Given the description of an element on the screen output the (x, y) to click on. 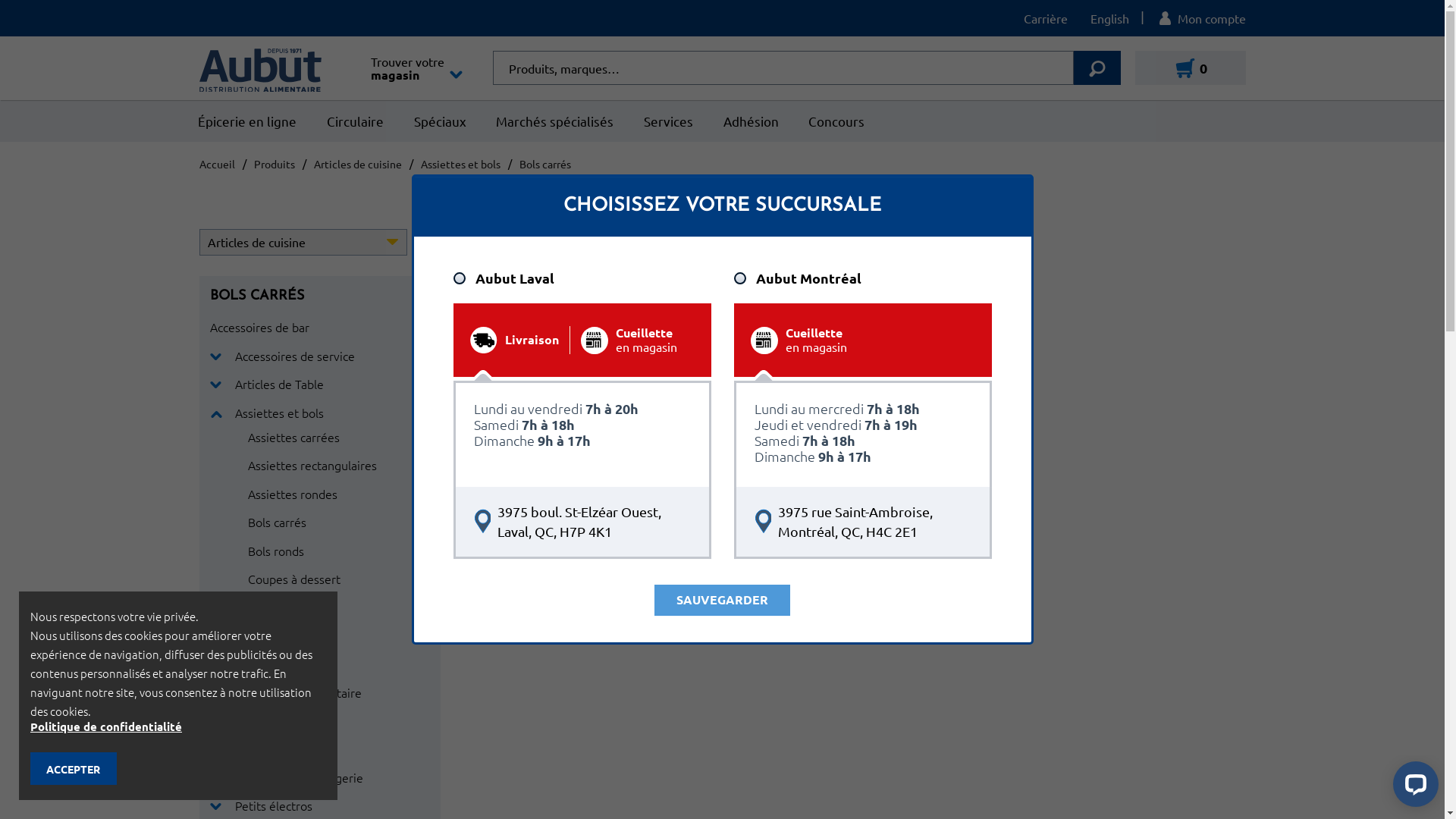
Path Mon compte Element type: text (1201, 18)
Accessoires de bar Element type: text (258, 326)
Cuisson Element type: text (255, 748)
English Element type: text (1108, 18)
Assiettes rondes Element type: text (291, 493)
Concours Element type: text (836, 120)
Ajouter au panier Element type: text (594, 501)
Assiettes et bols Element type: text (279, 412)
Plats de service Element type: text (288, 635)
Circulaire Element type: text (354, 120)
Articles de cuisine Element type: text (357, 163)
Assiettes rectangulaires Element type: text (311, 464)
Contenants alimentaire Element type: text (298, 691)
Accessoires de service Element type: text (294, 355)
Assiettes et bols Element type: text (459, 163)
Services Element type: text (668, 120)
Produits Element type: text (273, 163)
Ajouter au panier Element type: text (789, 501)
Trouver votre
magasin Element type: text (415, 68)
Articles de Table Element type: text (279, 383)
Ramequins Element type: text (277, 663)
Bols ronds Element type: text (275, 550)
Couteau de chef Element type: text (279, 720)
SAUVEGARDER Element type: text (721, 599)
panier 0 Element type: text (1189, 68)
Accueil Element type: text (216, 163)
